Given the description of an element on the screen output the (x, y) to click on. 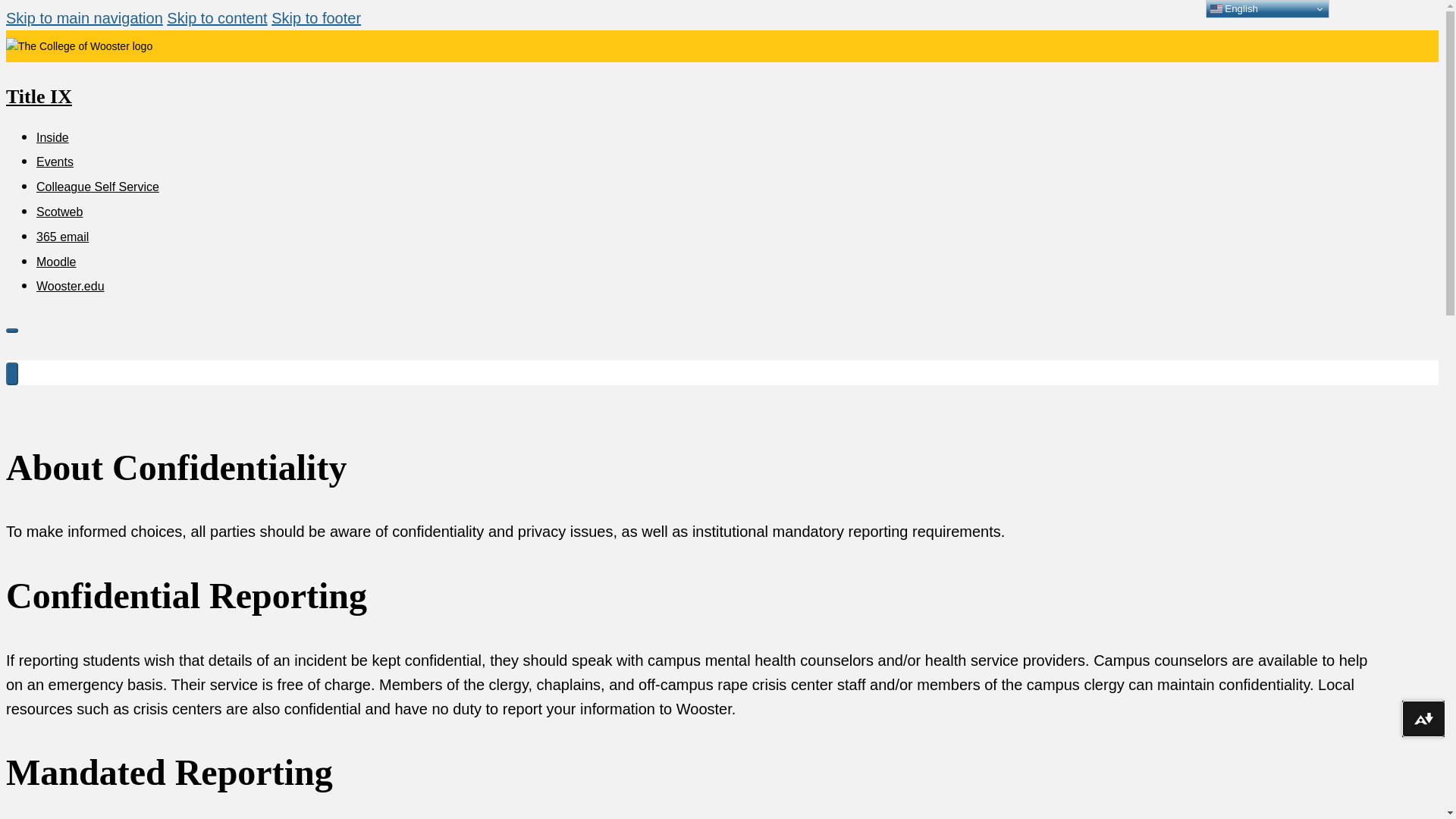
Moodle (55, 261)
Scotweb (59, 211)
Skip to footer (315, 17)
Title IX (38, 96)
Skip to content (216, 17)
Colleague Self Service (97, 186)
365 email (62, 236)
Skip to main navigation (84, 17)
Wooster.edu (70, 286)
Inside (52, 137)
Events (55, 161)
